Given the description of an element on the screen output the (x, y) to click on. 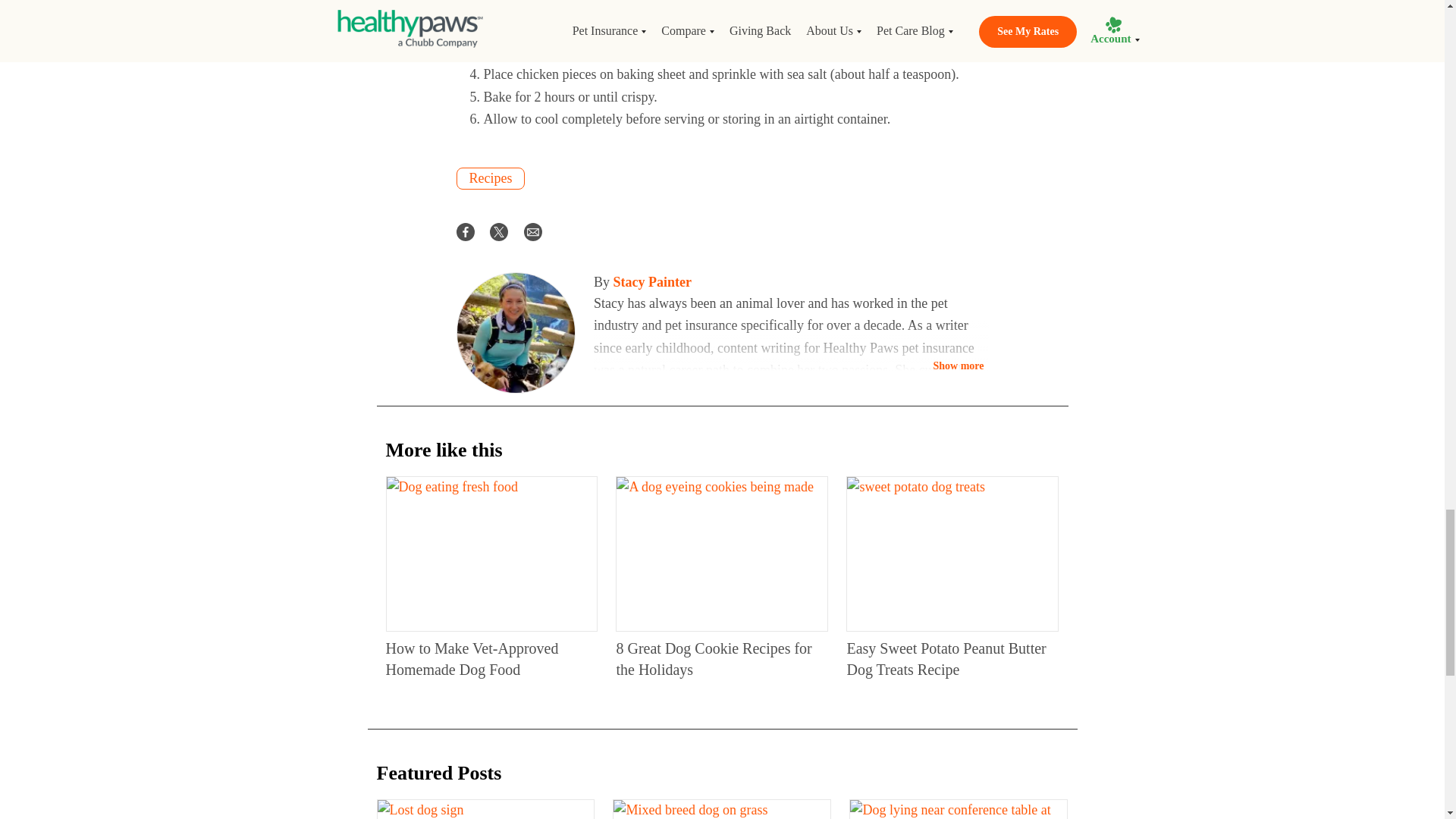
Share Post on Twitter (498, 230)
8 Great Dog Cookie Recipes for the Holidays (712, 658)
Share Post over Email (531, 230)
How to Make Vet-Approved Homemade Dog Food (491, 553)
How to Make Vet-Approved Homemade Dog Food (471, 658)
8 Great Dog Cookie Recipes for the Holidays (721, 553)
